Given the description of an element on the screen output the (x, y) to click on. 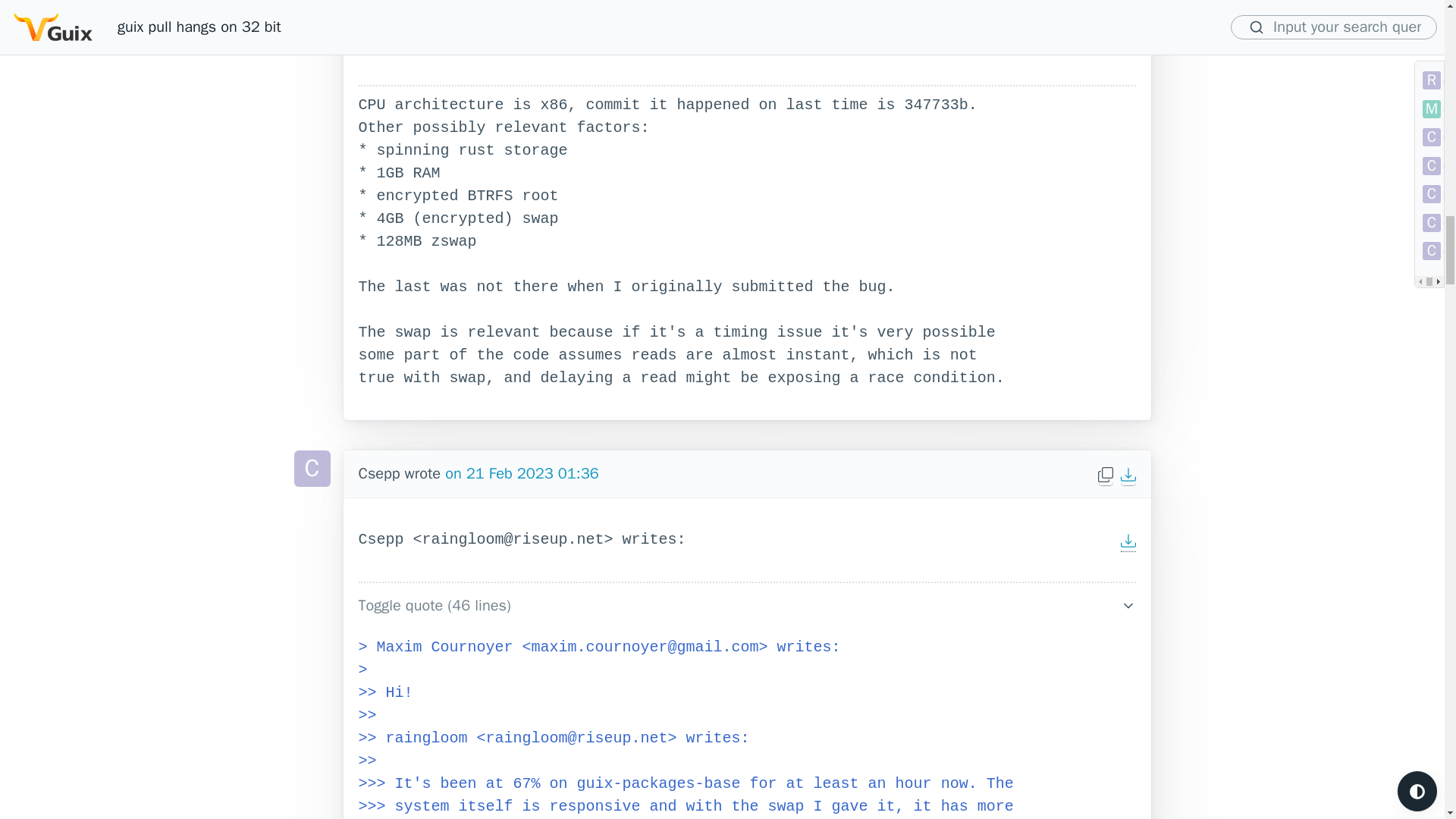
on 21 Feb 2023 01:36 (521, 473)
